Given the description of an element on the screen output the (x, y) to click on. 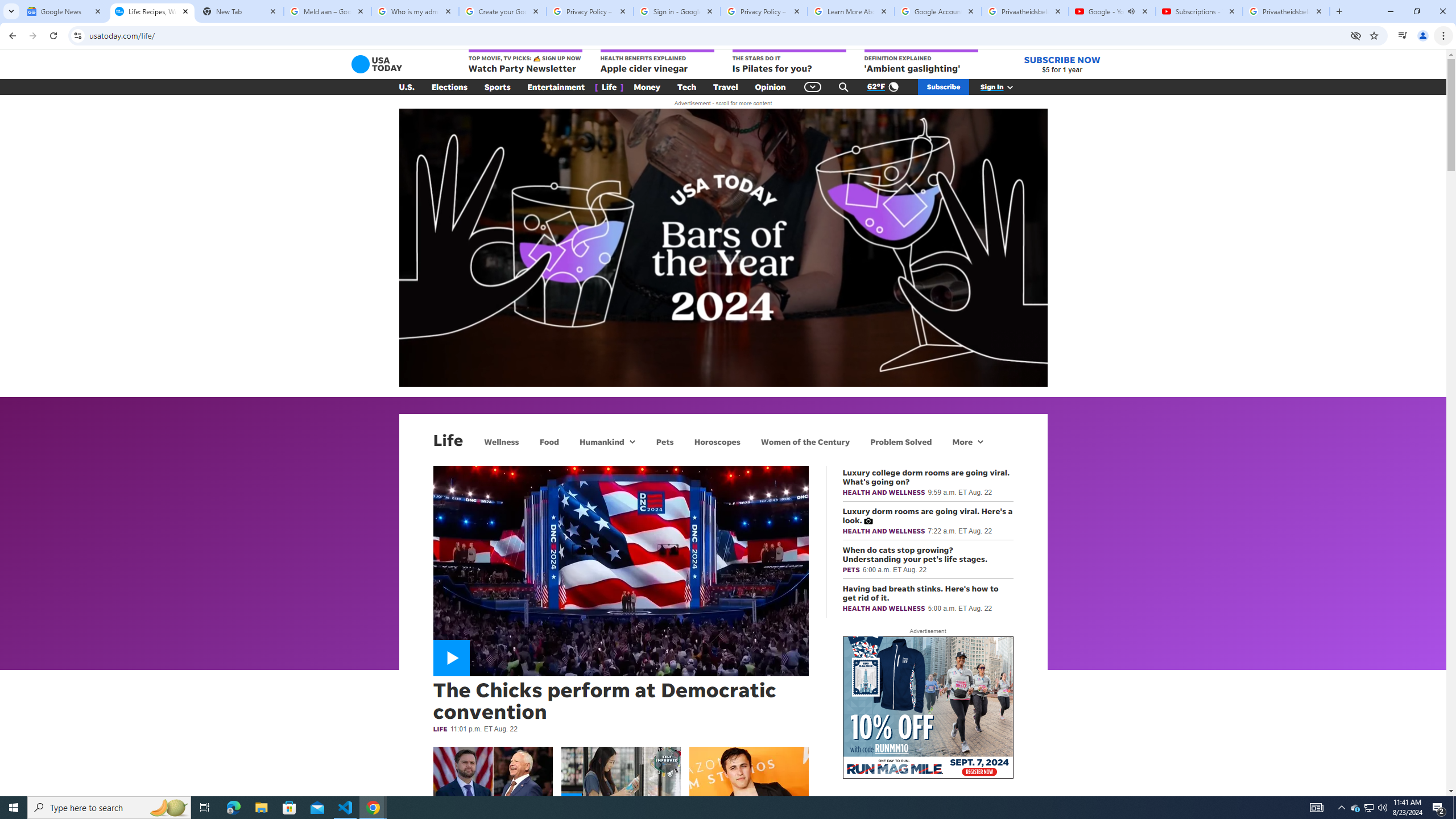
Sign in - Google Accounts (676, 11)
Life: Recipes, Wellness & Horoscopes - USA TODAY (151, 11)
Subscriptions - YouTube (1198, 11)
SUBSCRIBE NOW $5 for 1 year (1062, 64)
THE STARS DO IT Is Pilates for you? (788, 62)
HEALTH BENEFITS EXPLAINED Apple cider vinegar (656, 62)
